Given the description of an element on the screen output the (x, y) to click on. 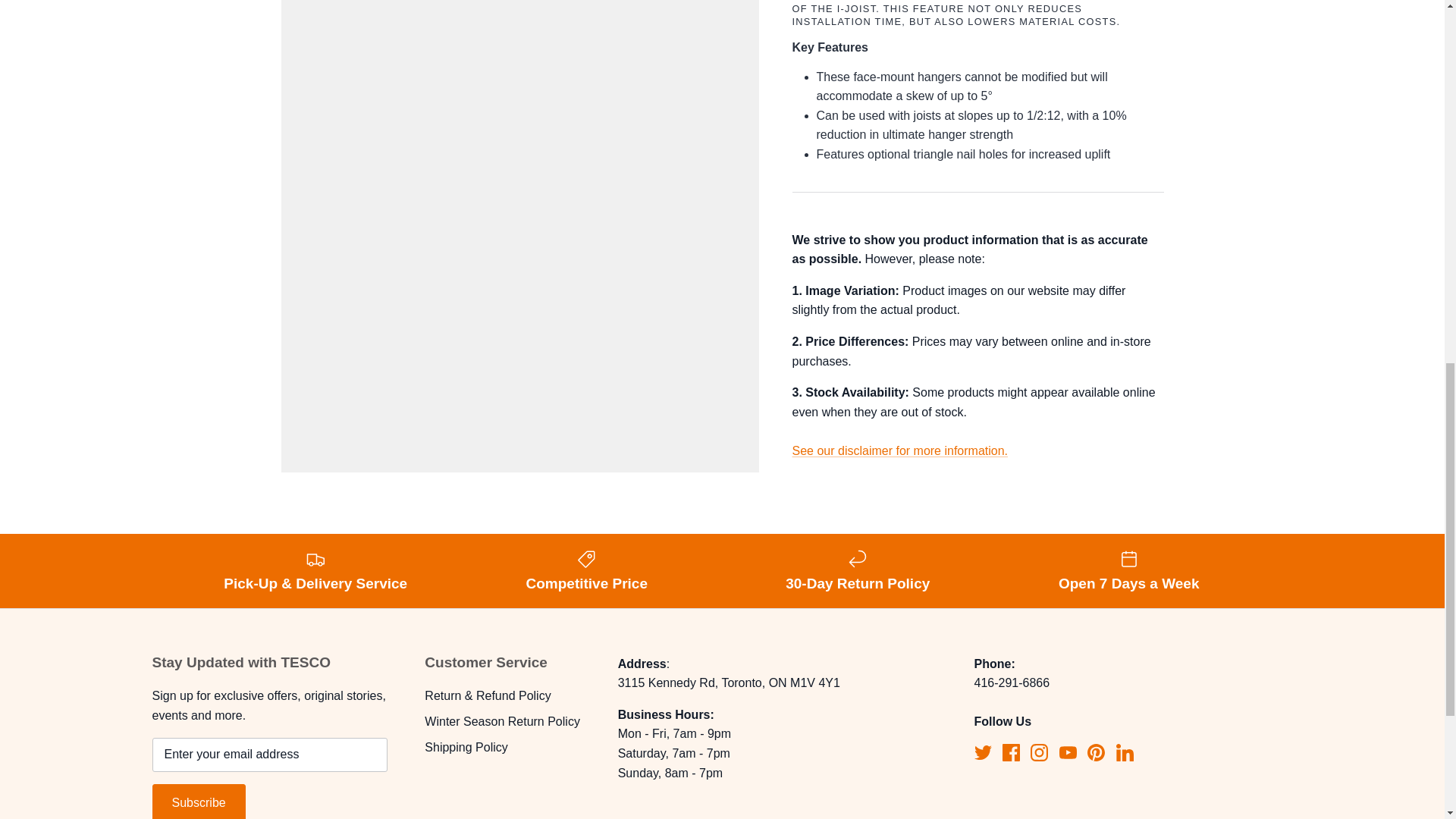
Terms of Service (899, 438)
Twitter (982, 752)
Pinterest (1096, 752)
Facebook (1011, 752)
Instagram (1039, 752)
Youtube (1068, 752)
